Given the description of an element on the screen output the (x, y) to click on. 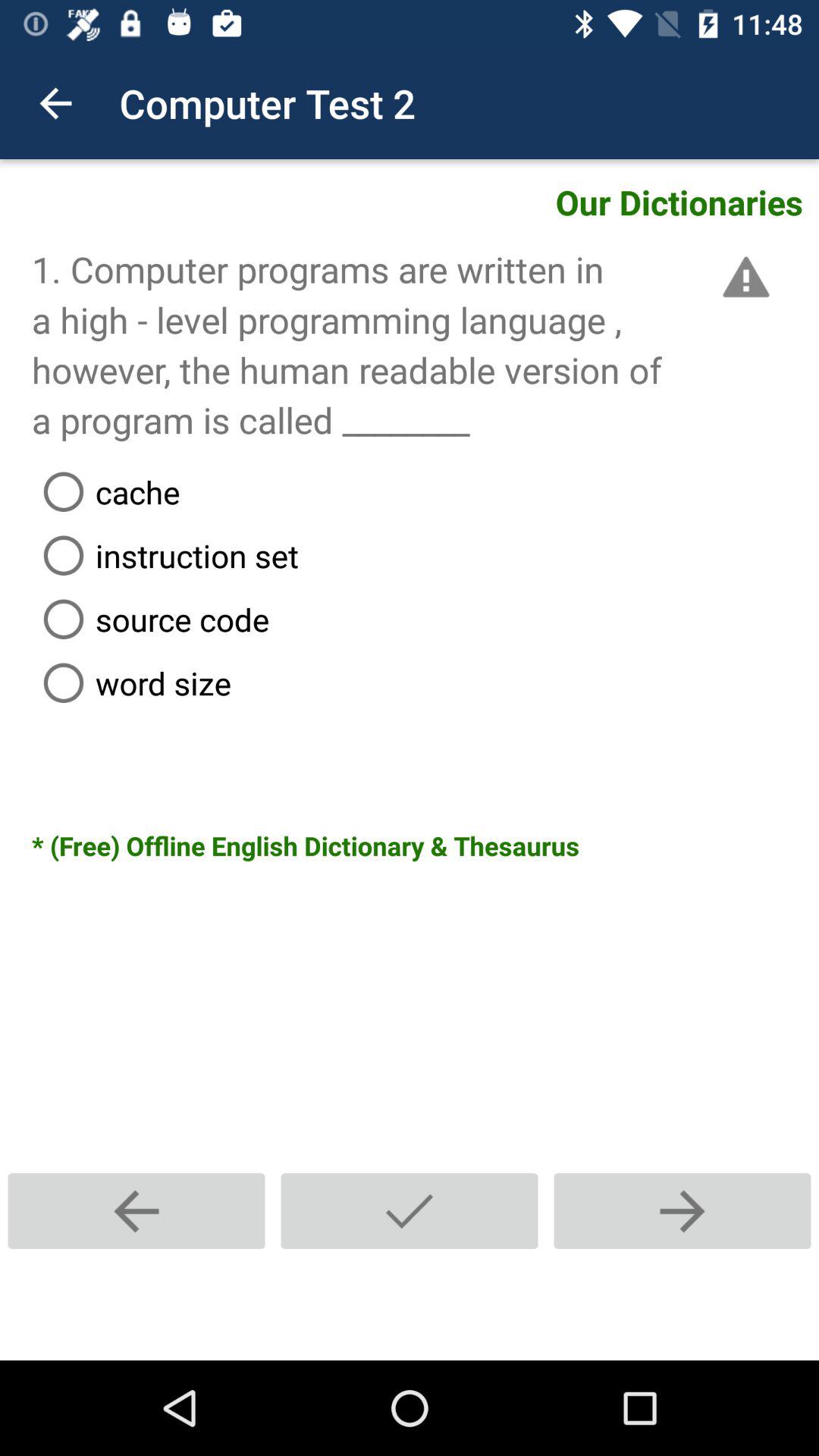
choose instruction set (425, 555)
